Given the description of an element on the screen output the (x, y) to click on. 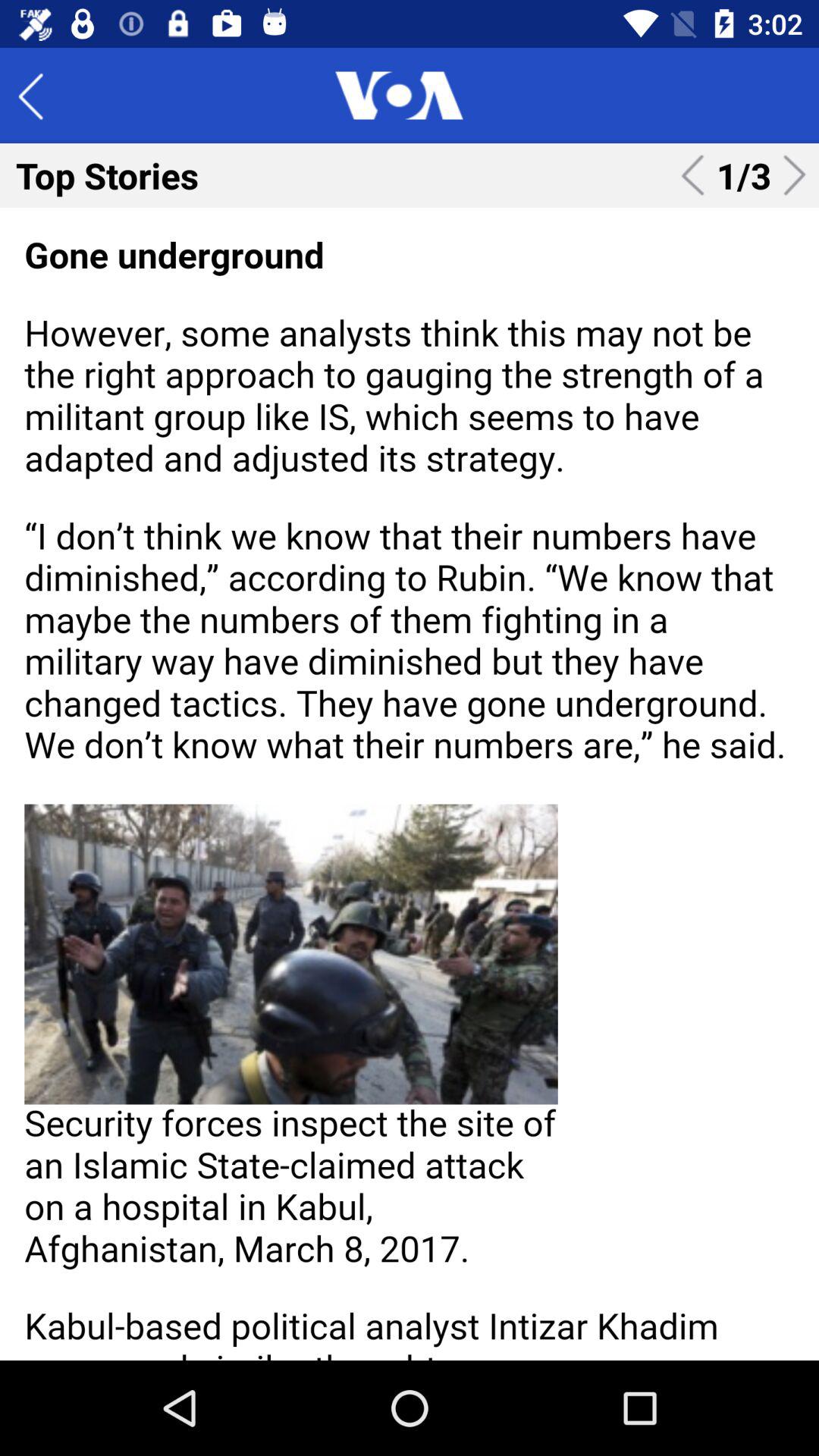
highlight the article text (409, 783)
